Given the description of an element on the screen output the (x, y) to click on. 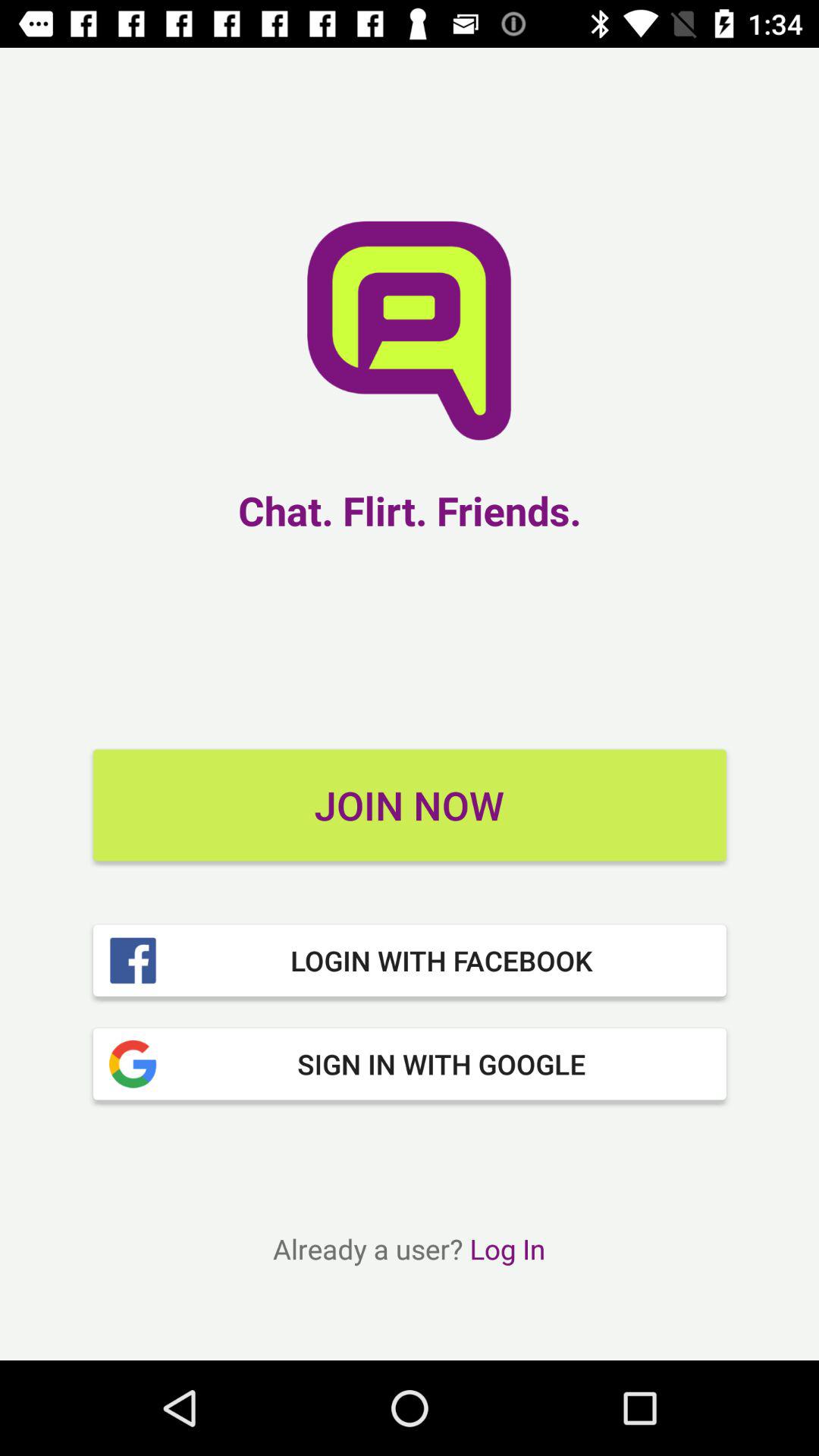
jump until already a user icon (409, 1248)
